Given the description of an element on the screen output the (x, y) to click on. 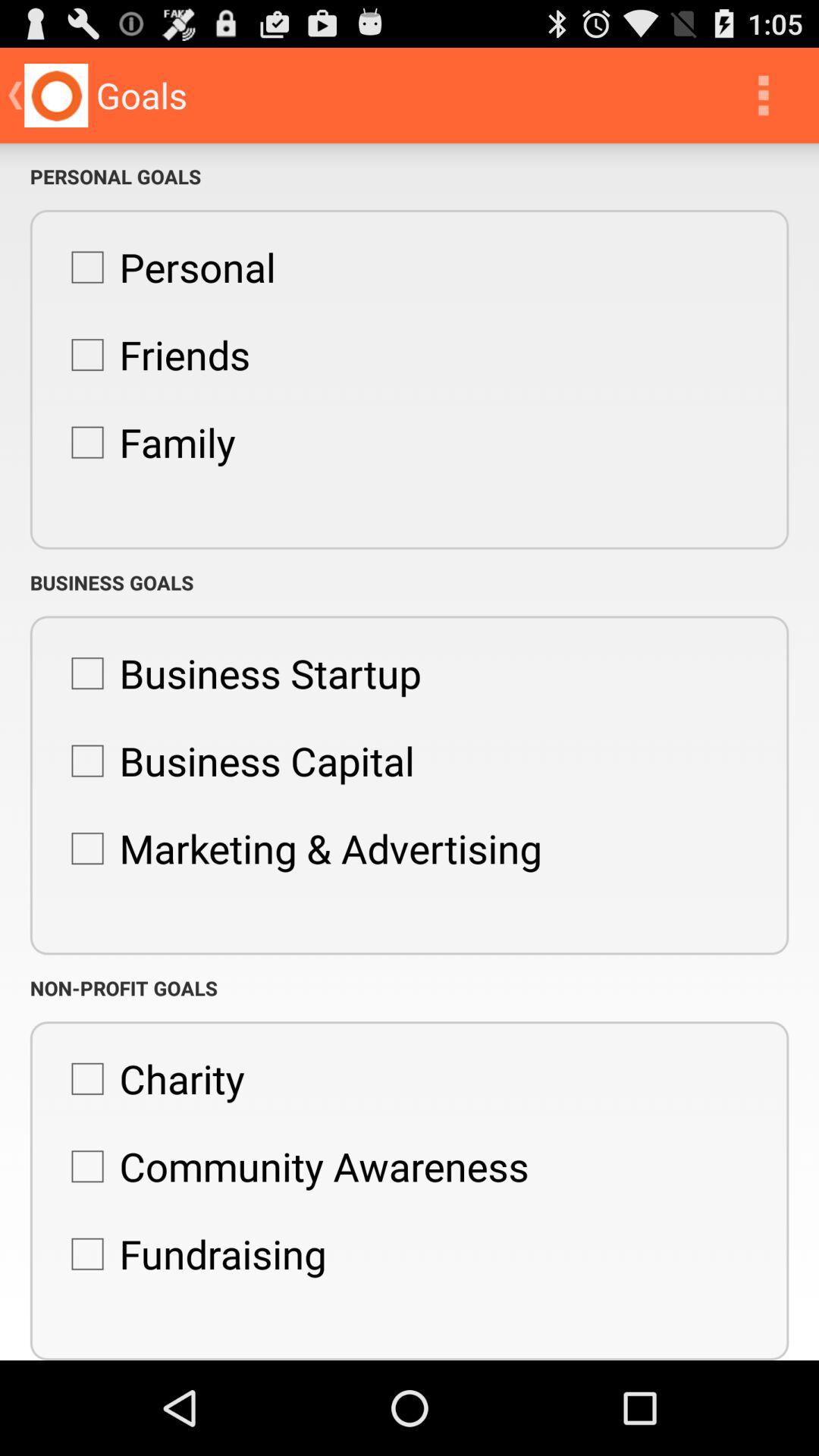
flip to community awareness icon (291, 1166)
